Given the description of an element on the screen output the (x, y) to click on. 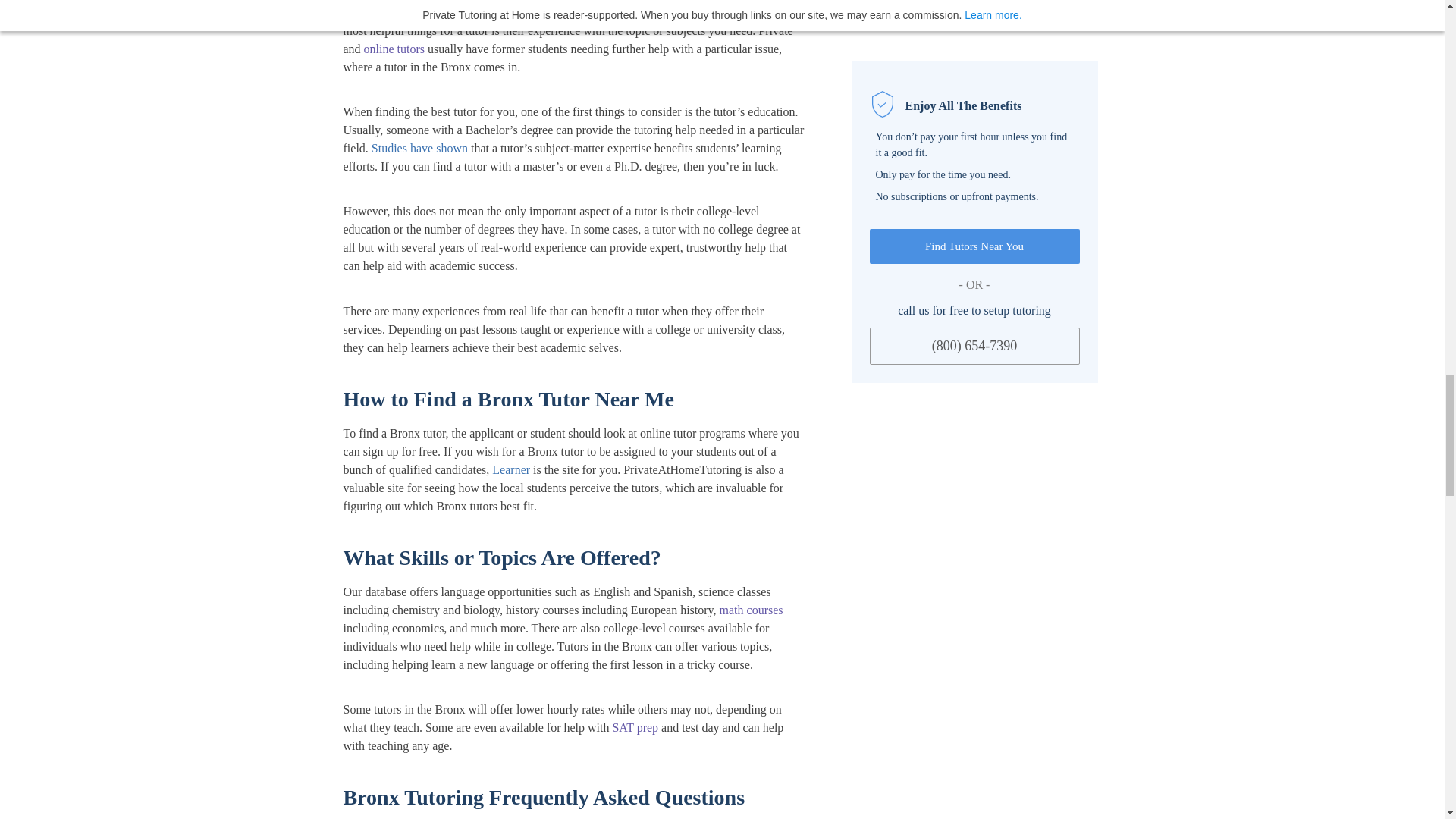
online tutors (394, 48)
math courses (751, 609)
SAT prep (634, 727)
Studies have shown (419, 147)
online tutors (394, 48)
Learner (510, 469)
